Given the description of an element on the screen output the (x, y) to click on. 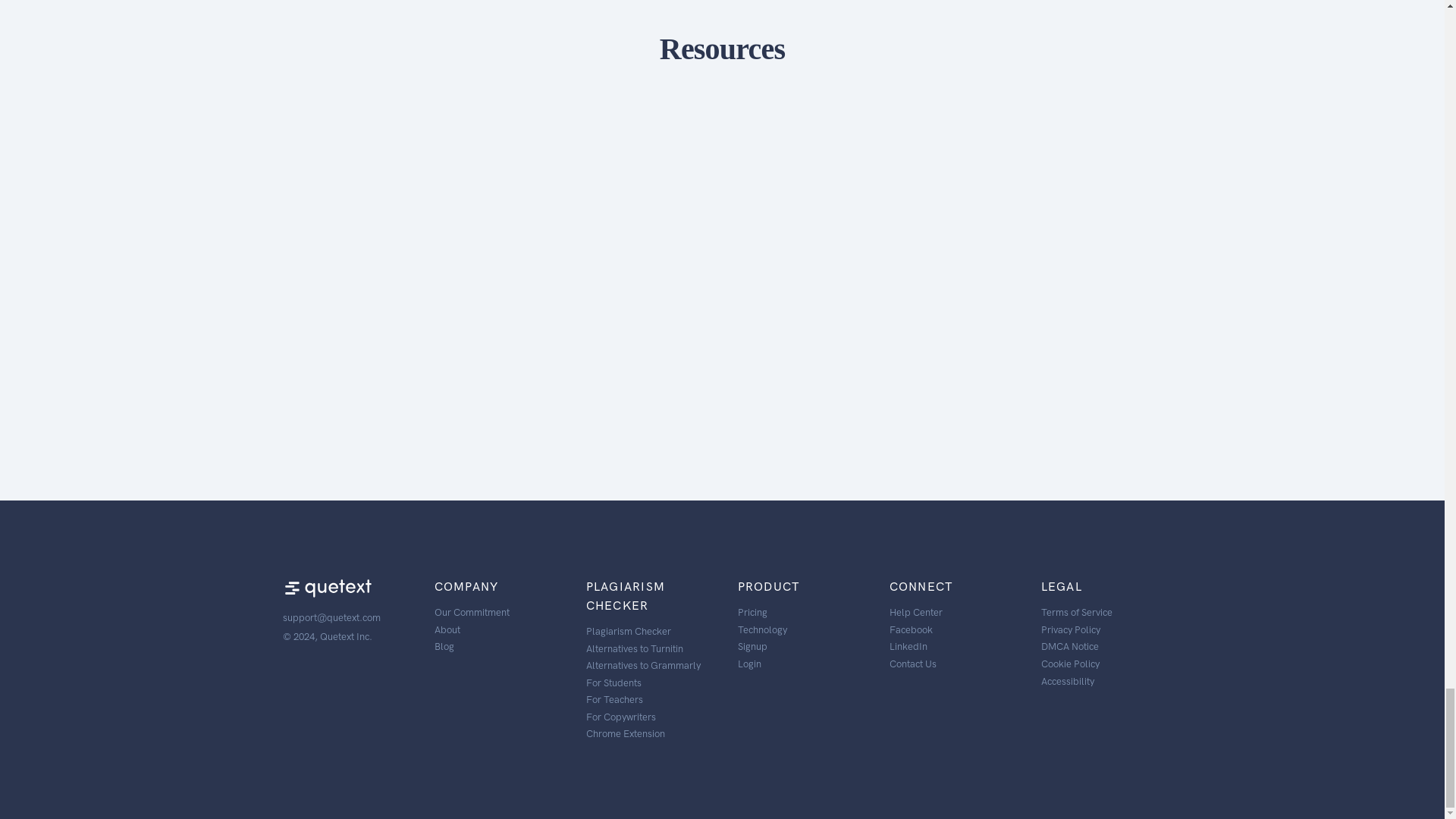
Quetext.com (331, 593)
